Given the description of an element on the screen output the (x, y) to click on. 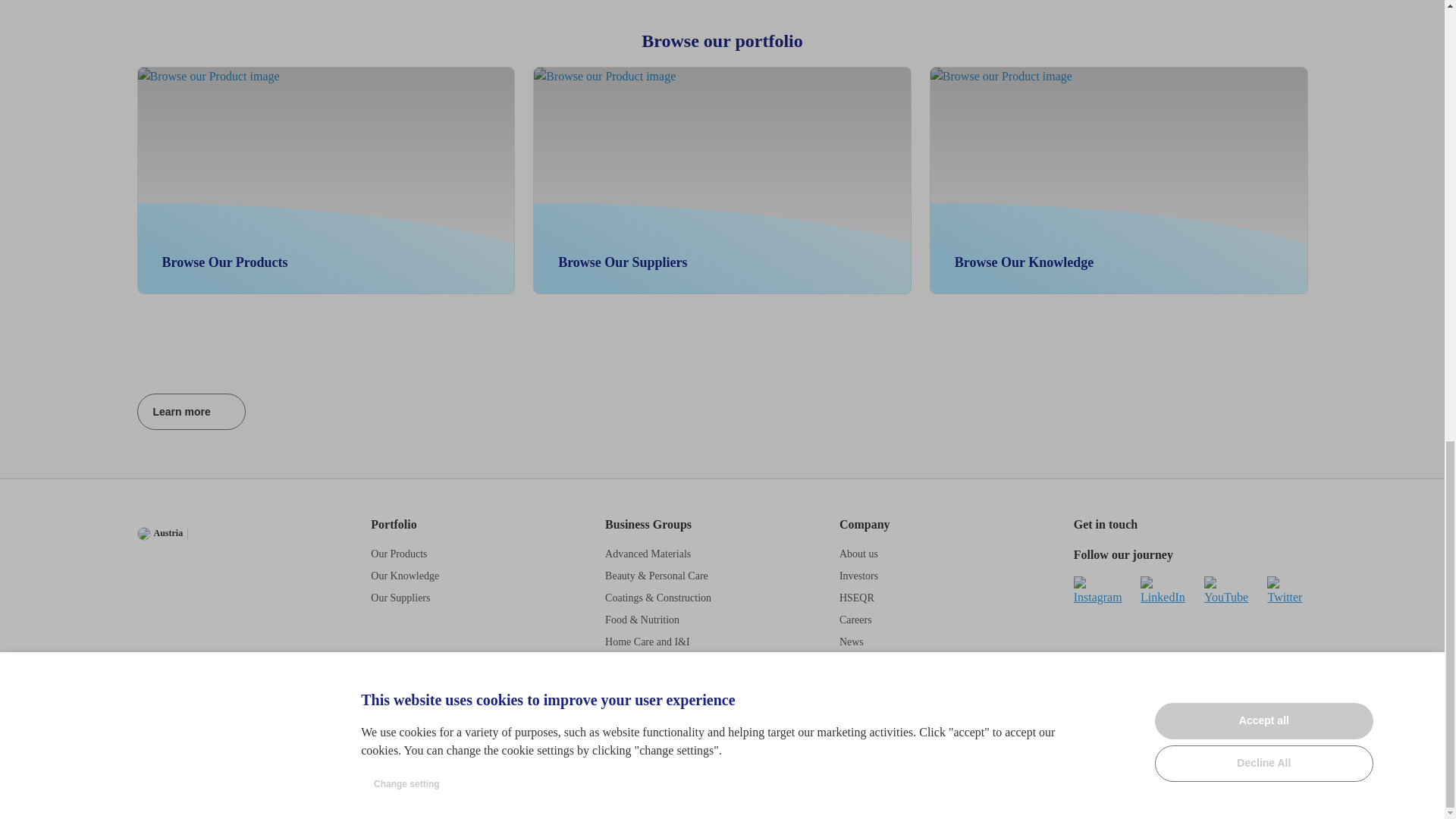
Our Products (398, 553)
Our Suppliers (400, 597)
Austria (159, 533)
Browse our Product (1118, 180)
Learn more (1276, 91)
Browse our Suppliers (191, 411)
Browse our Product (566, 237)
Our Knowledge (879, 91)
Browse our Product (405, 575)
Browse our Knowledge (170, 237)
Open Dropdown (963, 237)
Browse our Product (325, 180)
